Given the description of an element on the screen output the (x, y) to click on. 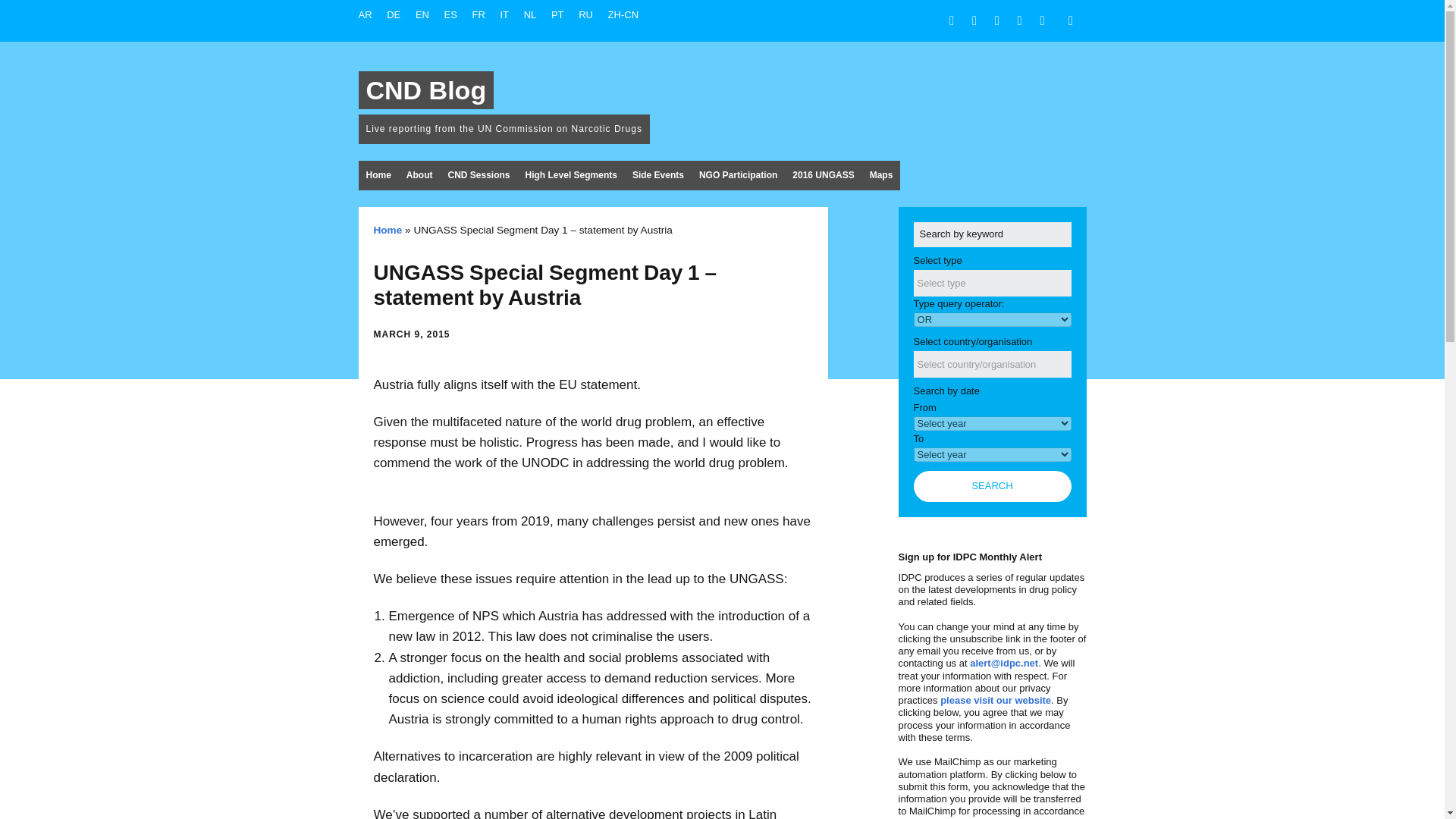
ZH-CN (623, 14)
Select type (951, 282)
Side Events (657, 175)
Search (992, 486)
Maps (881, 175)
Deutsch (393, 14)
CND Sessions (477, 175)
PT (557, 14)
High Level Segments (571, 175)
Home (386, 229)
AR (364, 14)
Home (377, 175)
EN (421, 14)
CND Blog (425, 89)
RU (585, 14)
